Given the description of an element on the screen output the (x, y) to click on. 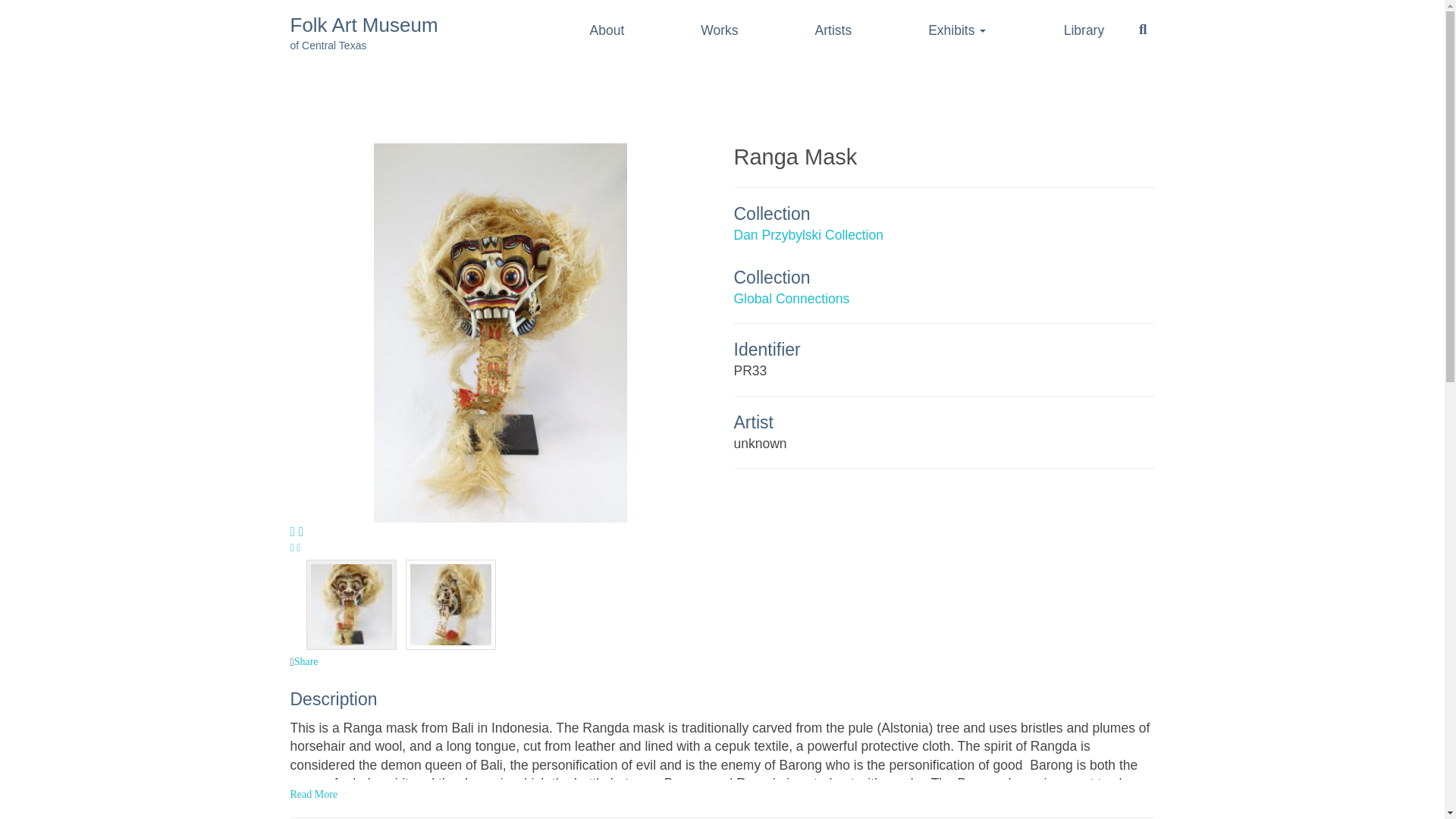
Exhibits (963, 30)
Global Connections (363, 32)
Read More (943, 298)
Dan Przybylski Collection (721, 790)
Share (943, 245)
